Given the description of an element on the screen output the (x, y) to click on. 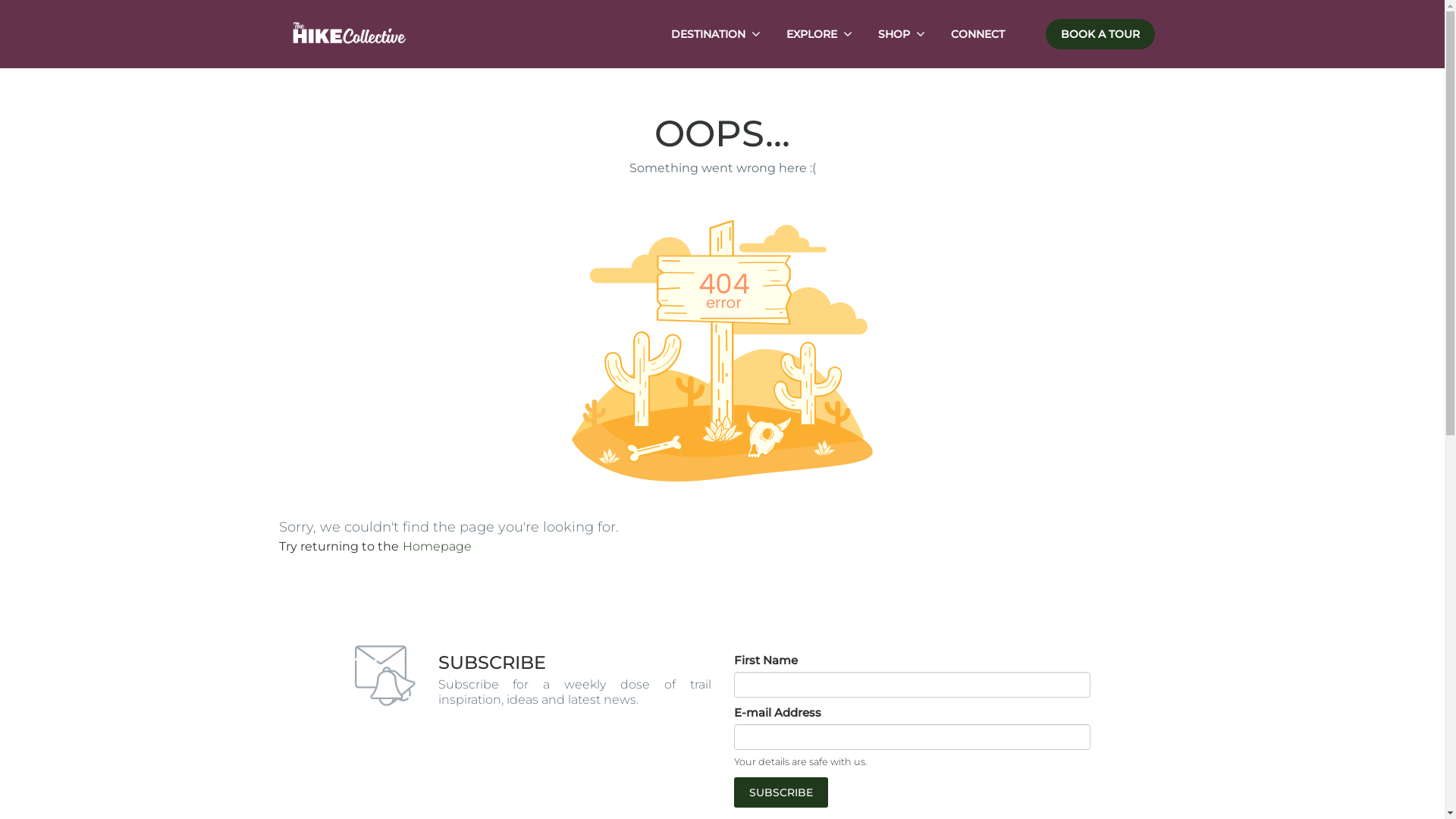
BOOK A TOUR Element type: text (1099, 33)
SHOP Element type: text (894, 33)
SUBSCRIBE Element type: text (781, 792)
EXPLORE Element type: text (810, 33)
Homepage Element type: text (435, 546)
CONNECT Element type: text (977, 33)
DESTINATION Element type: text (707, 33)
